Given the description of an element on the screen output the (x, y) to click on. 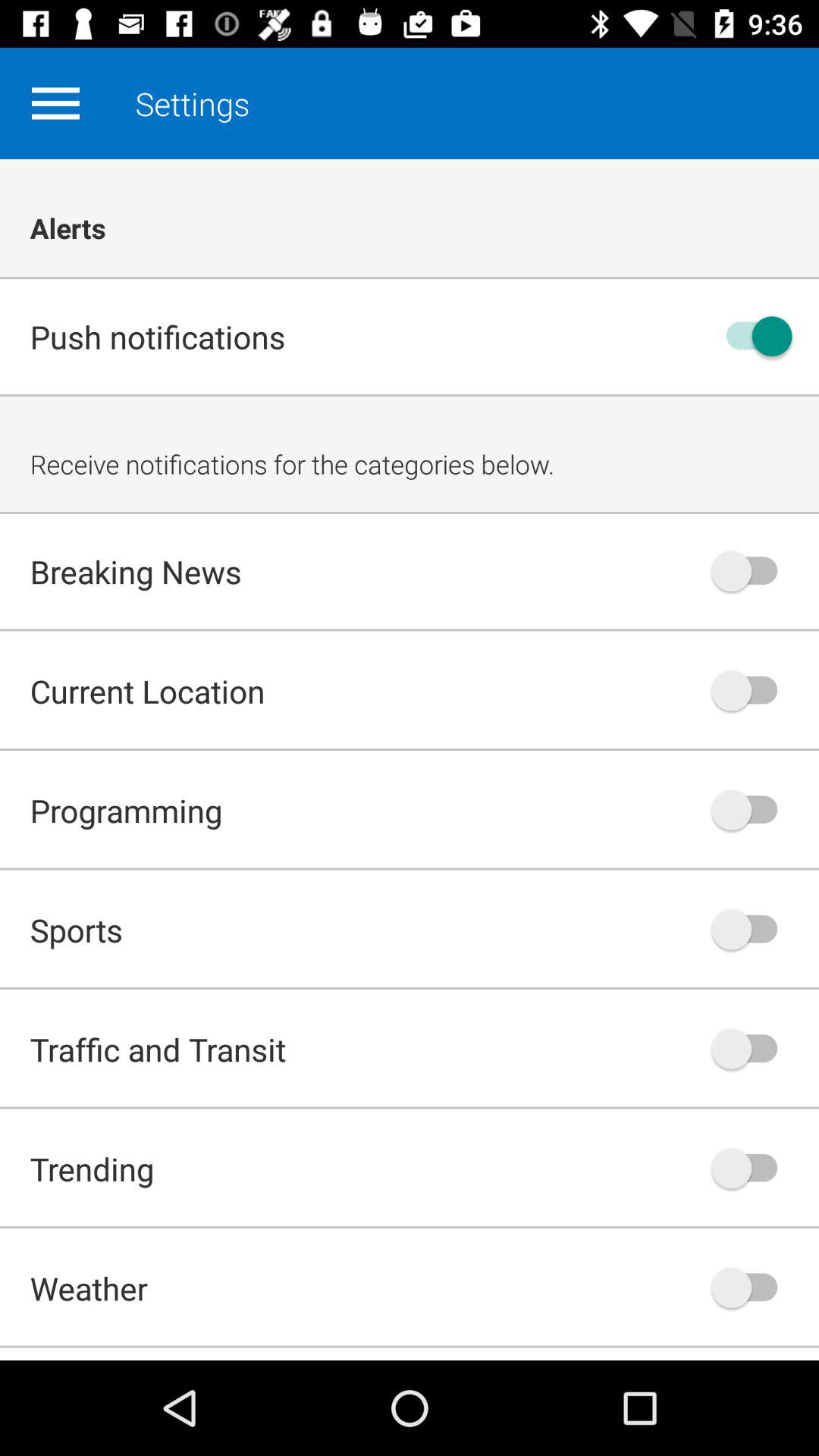
toggle location-based news (751, 690)
